Given the description of an element on the screen output the (x, y) to click on. 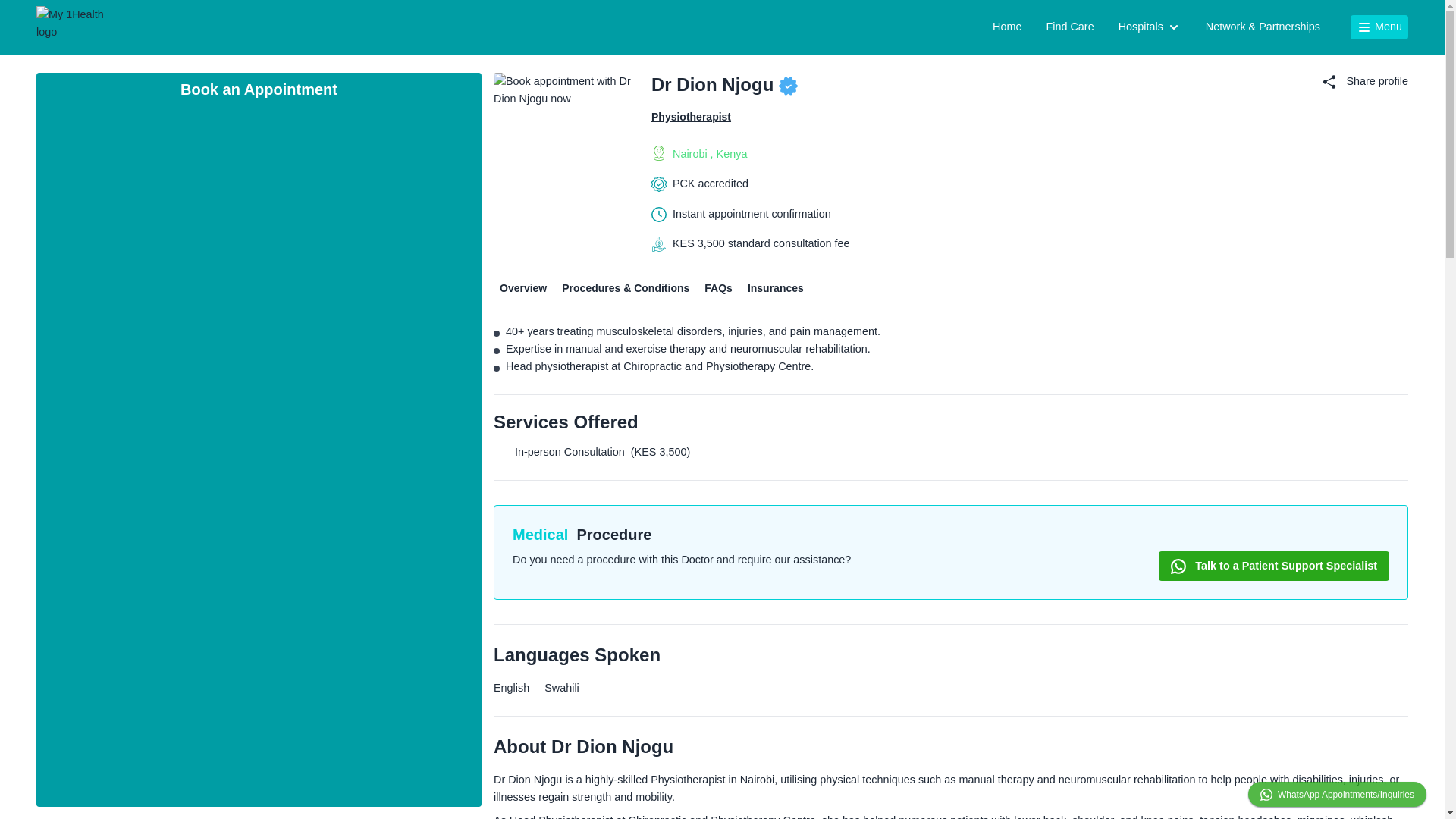
Find Care (1069, 27)
Home (1007, 27)
Let your audiences know about Dr Dion Njogu (1364, 81)
Menu (1379, 26)
Home (74, 26)
Hospitals (1150, 27)
